Given the description of an element on the screen output the (x, y) to click on. 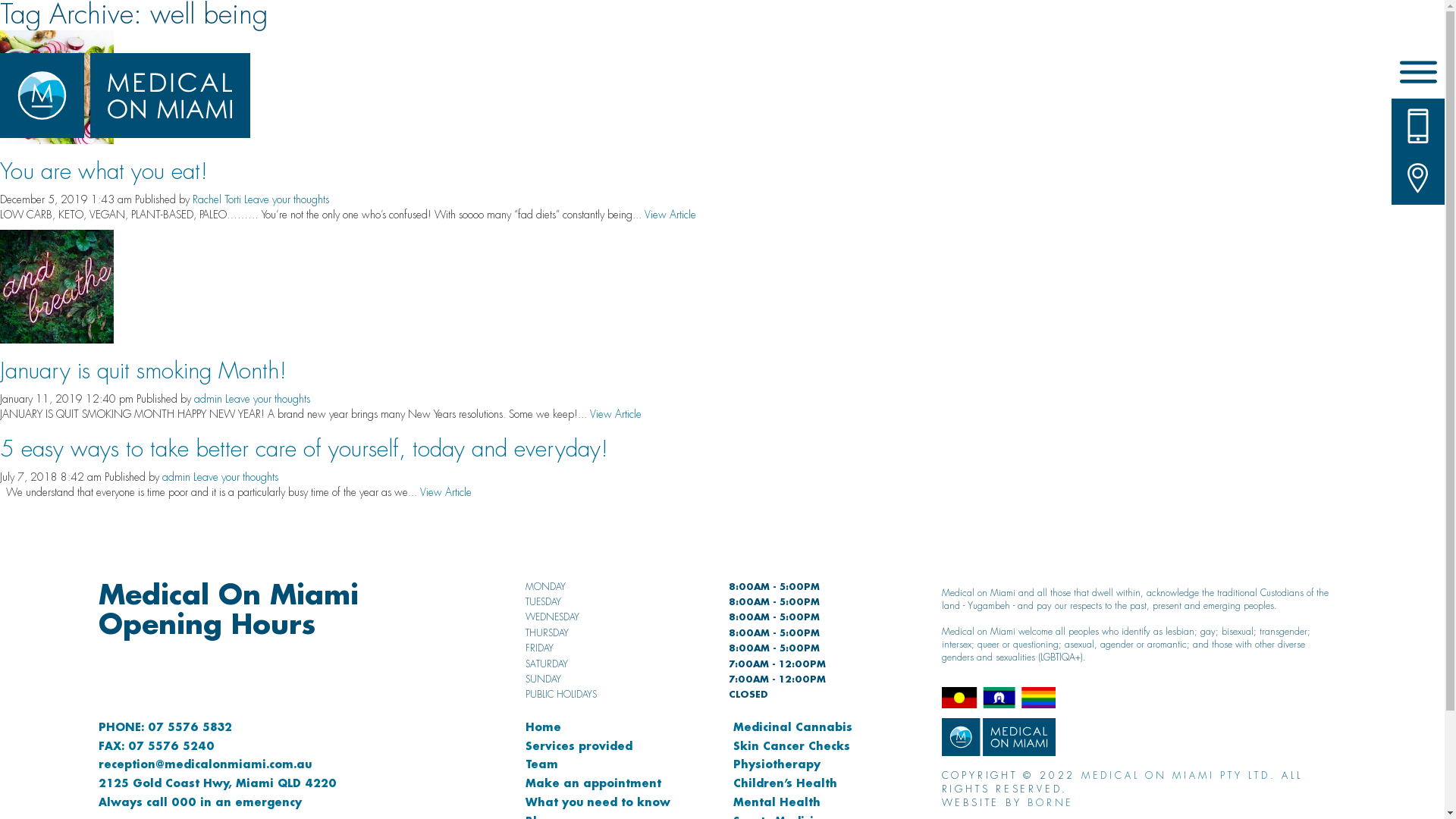
FAX: 07 5576 5240 Element type: text (156, 745)
admin Element type: text (208, 398)
Team Element type: text (541, 763)
Rachel Torti Element type: text (216, 199)
View Article Element type: text (615, 413)
January is quit smoking Month! Element type: hover (56, 284)
MEDICAL ON MIAMI PTY LTD. Element type: text (1178, 775)
PHONE: 07 5576 5832 Element type: text (165, 726)
reception@medicalonmiami.com.au Element type: text (204, 763)
Services provided Element type: text (578, 745)
Leave your thoughts Element type: text (235, 476)
Skin Cancer Checks Element type: text (791, 745)
Leave your thoughts Element type: text (286, 199)
View Article Element type: text (670, 214)
Always call 000 in an emergency Element type: text (199, 801)
View Article Element type: text (445, 491)
Home Element type: text (543, 726)
BORNE Element type: text (1050, 803)
2125 Gold Coast Hwy, Miami QLD 4220 Element type: text (217, 782)
Medicinal Cannabis Element type: text (792, 726)
You are what you eat! Element type: hover (56, 85)
Make an appointment Element type: text (593, 782)
Mental Health Element type: text (776, 801)
Physiotherapy Element type: text (776, 763)
Leave your thoughts Element type: text (267, 398)
You are what you eat! Element type: text (103, 170)
January is quit smoking Month! Element type: text (143, 370)
What you need to know Element type: text (597, 801)
admin Element type: text (176, 476)
